Given the description of an element on the screen output the (x, y) to click on. 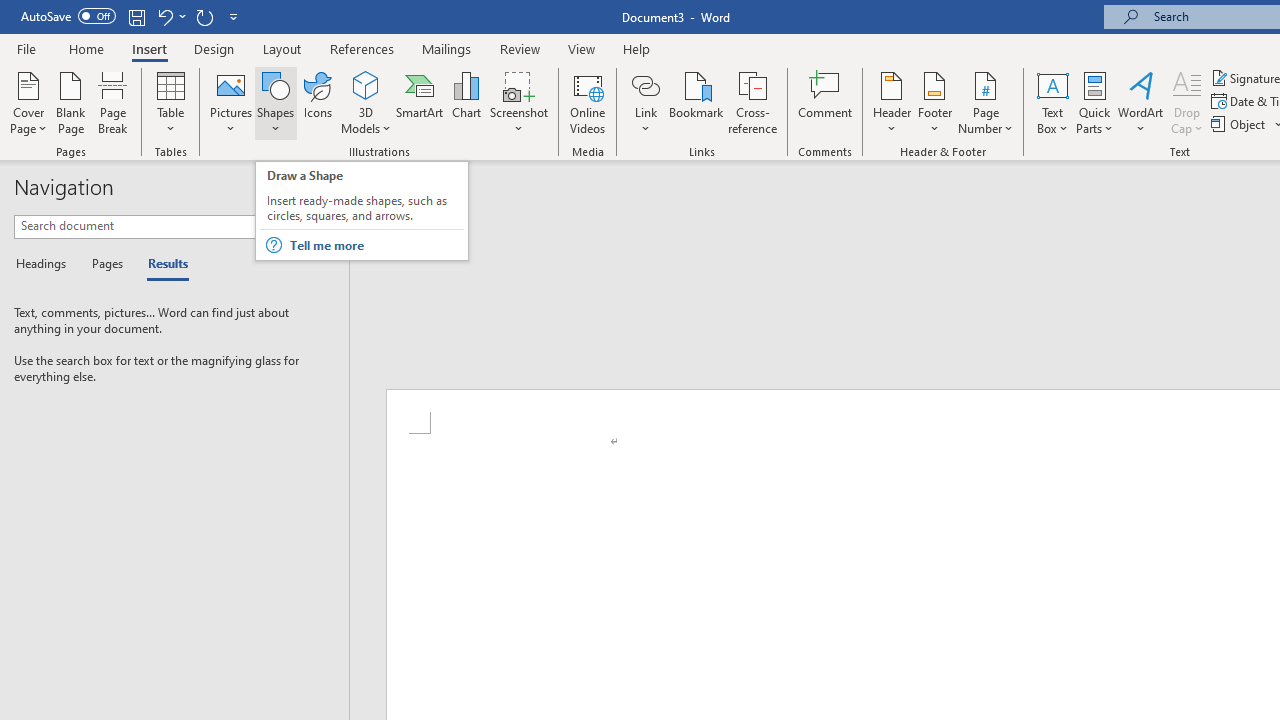
Bookmark... (695, 102)
WordArt (1141, 102)
Link (645, 84)
Page Break (113, 102)
Pictures (230, 102)
Cross-reference... (752, 102)
